Given the description of an element on the screen output the (x, y) to click on. 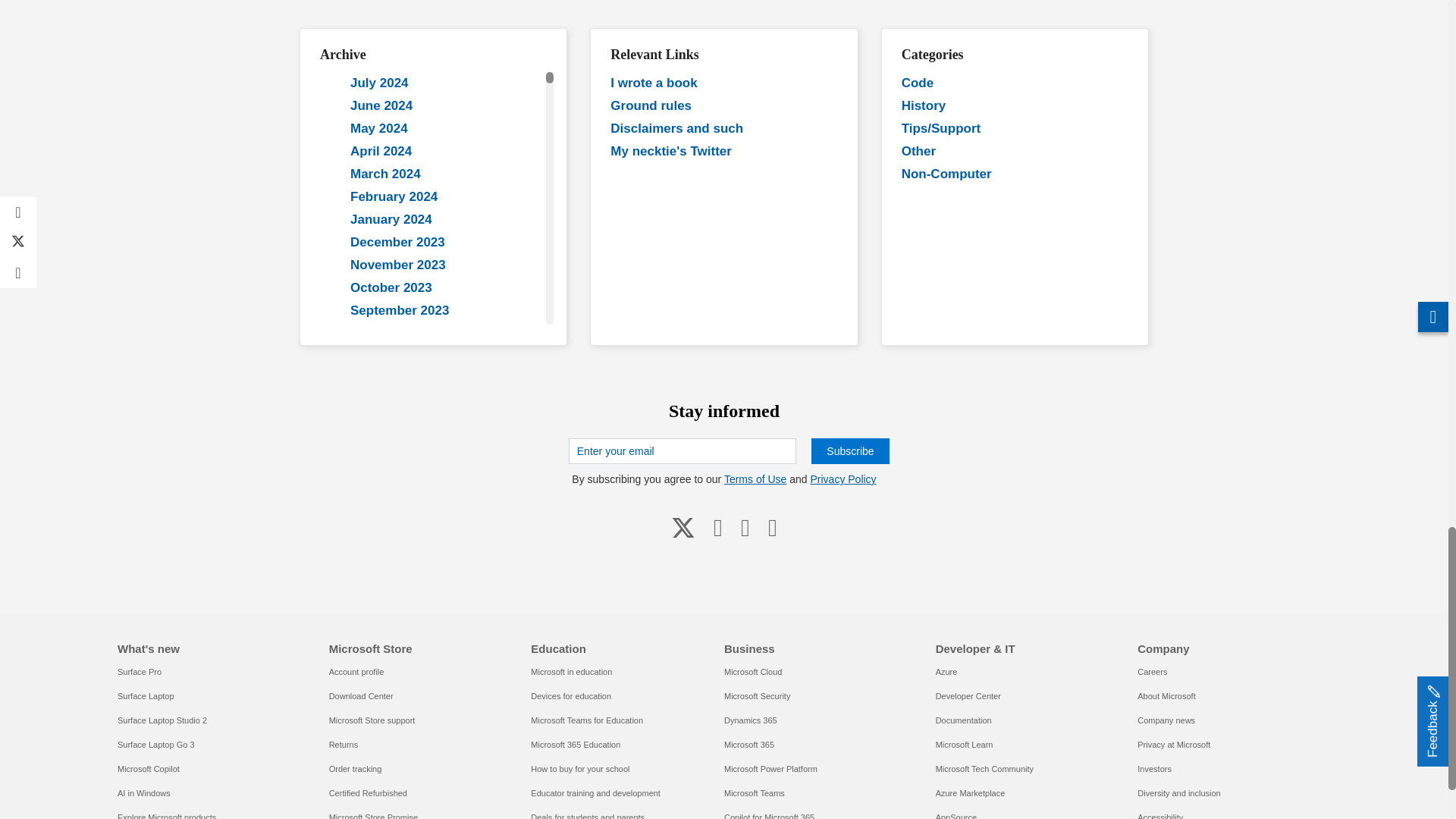
RSS Feed (772, 526)
Subscribe (849, 451)
GitHub (745, 526)
youtube (718, 526)
twitter (683, 526)
